Given the description of an element on the screen output the (x, y) to click on. 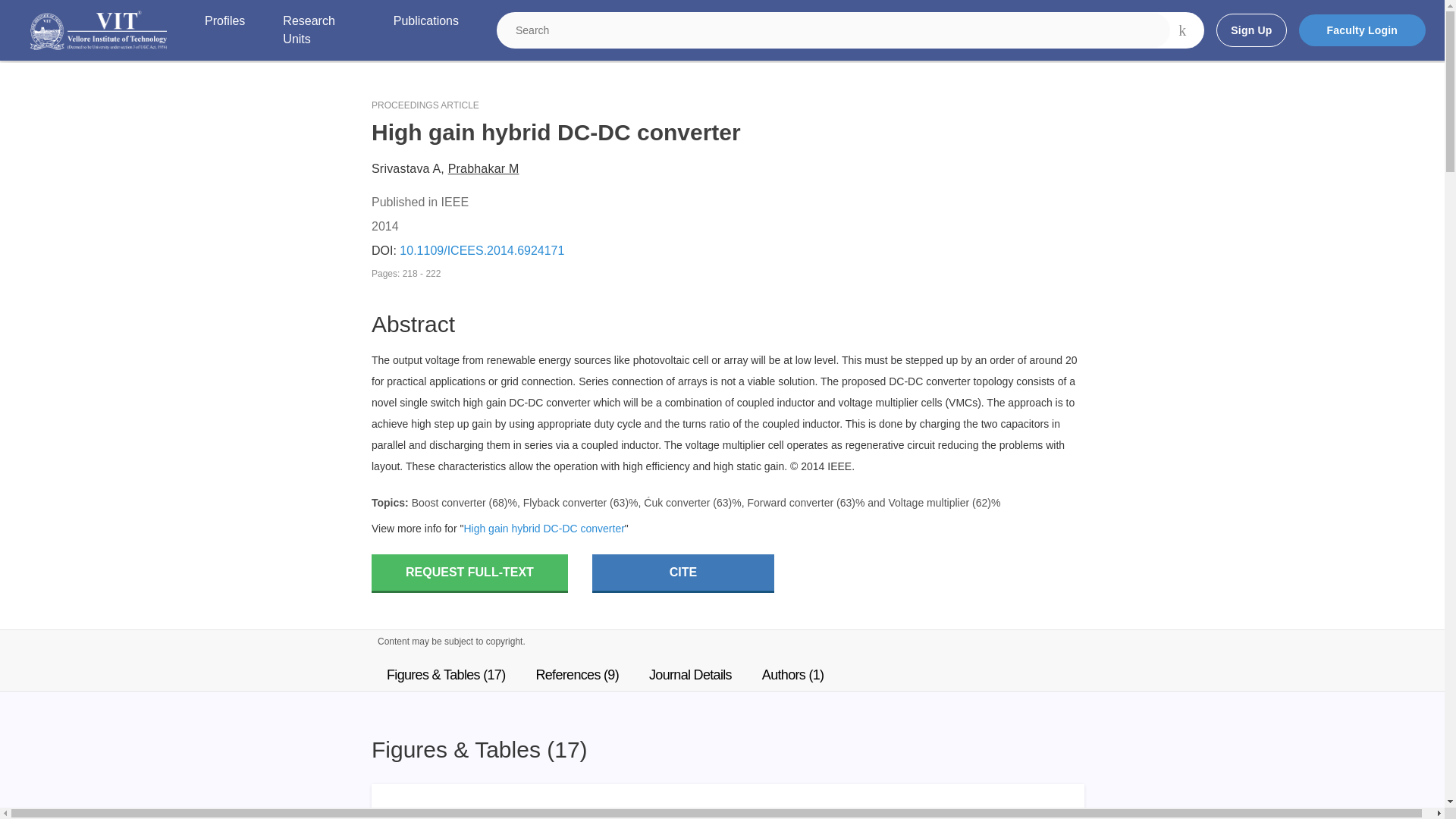
Profiles (224, 30)
Voltage multiplier (928, 502)
Publications (425, 30)
CITE (683, 573)
Faculty Login (1361, 29)
Prabhakar M (483, 168)
Boost converter (449, 502)
Journal Details (689, 675)
Sign Up (1250, 29)
Flyback converter (564, 502)
